Given the description of an element on the screen output the (x, y) to click on. 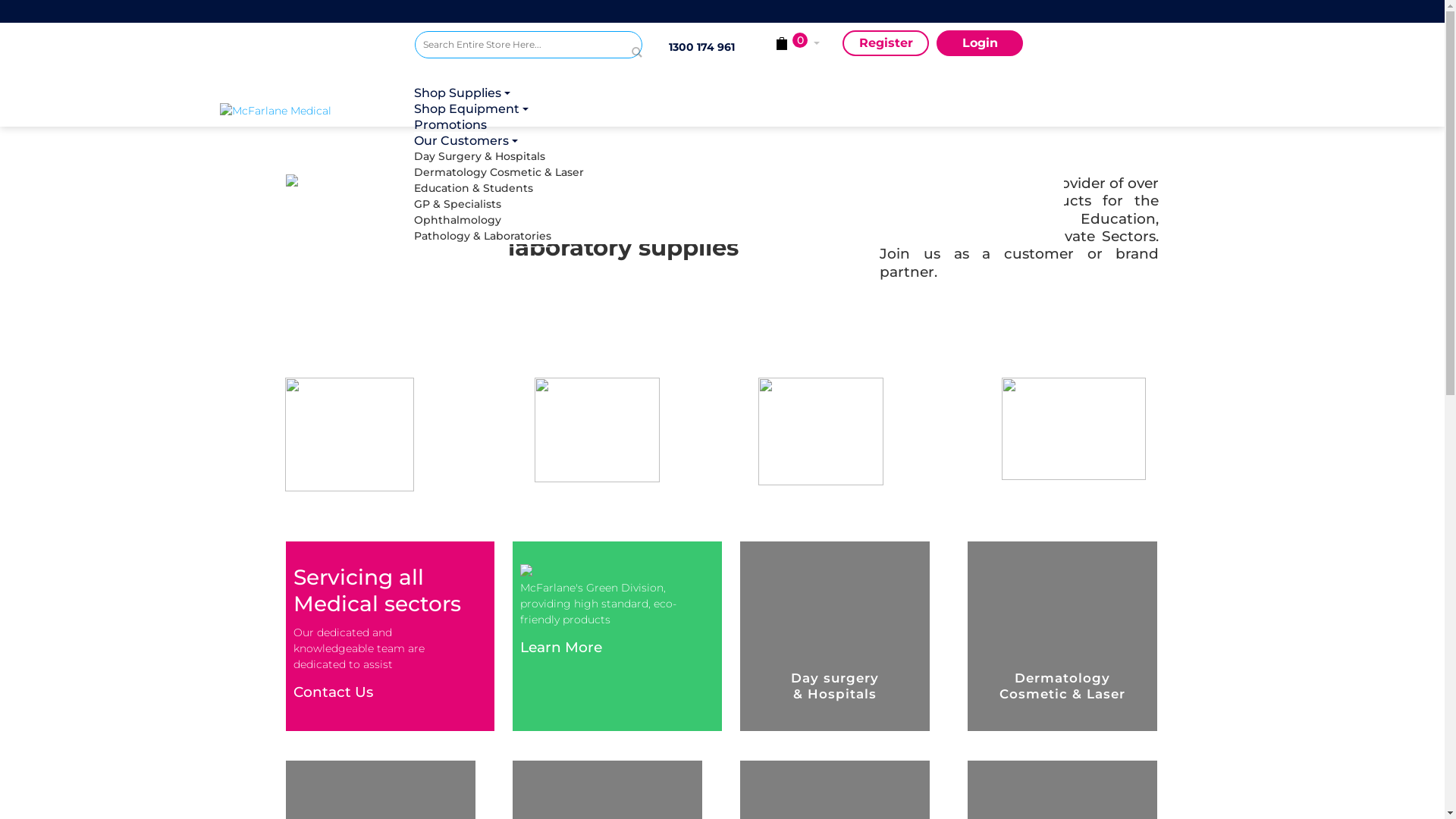
Ophthalmology Element type: text (457, 220)
Our Customers   Element type: text (467, 141)
Education & Students Element type: text (473, 188)
Shop Equipment   Element type: text (472, 109)
Day surgery
& Hospitals Element type: text (844, 635)
Dermatology Cosmetic & Laser Element type: text (498, 172)
Dermatology
Cosmetic & Laser Element type: text (1071, 635)
Shop Supplies   Element type: text (463, 93)
  Cart Subtotal (
0
) Element type: text (790, 43)
Promotions Element type: text (450, 125)
Day Surgery & Hospitals Element type: text (479, 156)
Register Element type: text (885, 43)
Login Element type: text (979, 43)
GP & Specialists Element type: text (457, 204)
Search Element type: hover (628, 44)
Pathology & Laboratories Element type: text (482, 236)
